Given the description of an element on the screen output the (x, y) to click on. 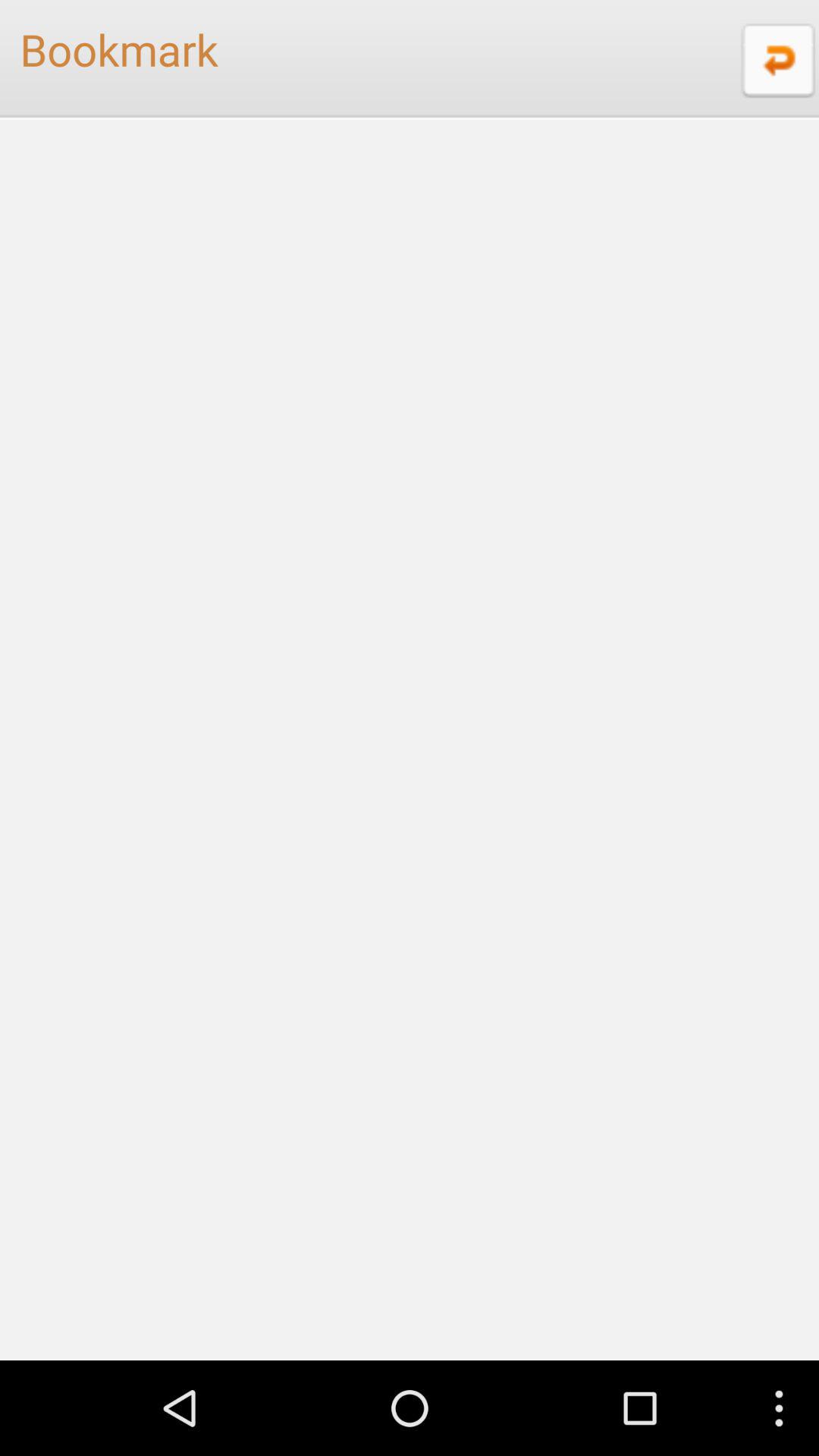
click item at the top right corner (776, 59)
